Given the description of an element on the screen output the (x, y) to click on. 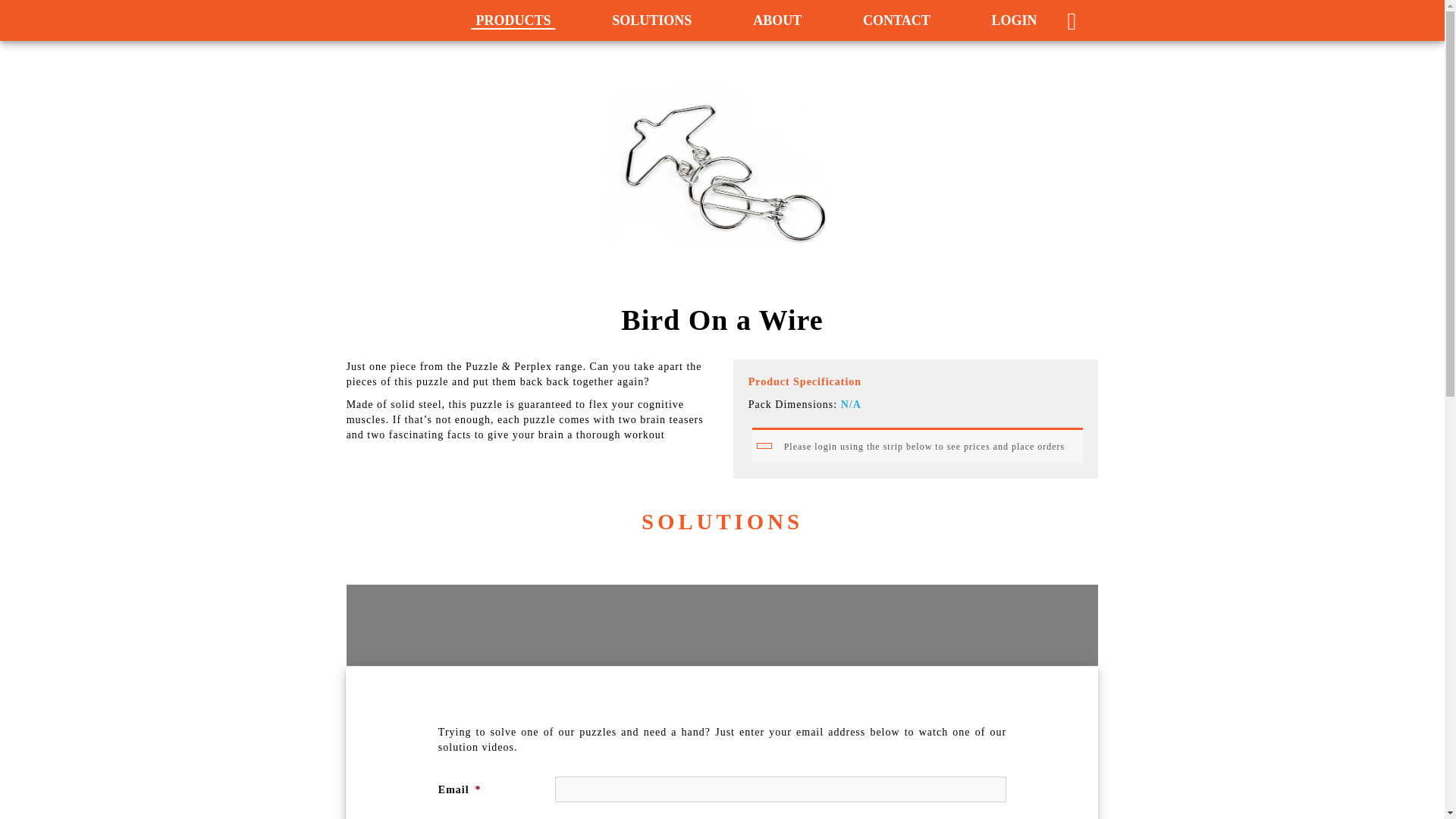
PRODUCTS (513, 20)
CONTACT (895, 20)
SOLUTIONS (651, 20)
ABOUT (777, 20)
LOGIN (1013, 20)
